Given the description of an element on the screen output the (x, y) to click on. 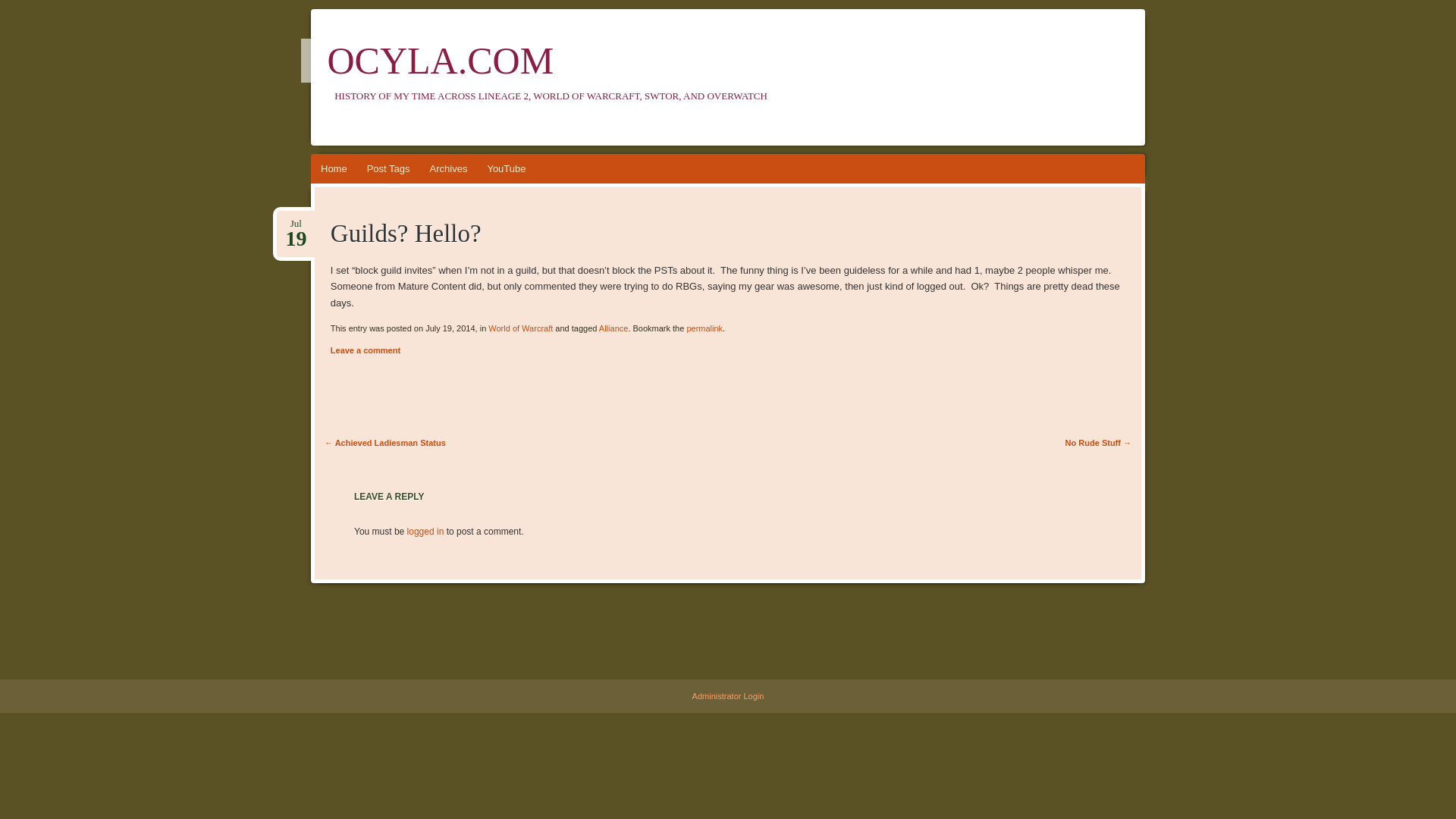
July 19, 2014 (295, 223)
permalink (703, 327)
Post Tags (388, 168)
Alliance (613, 327)
Administrator Login (295, 223)
Permalink to Guilds? Hello? (728, 696)
ocyla.com (703, 327)
World of Warcraft (439, 60)
logged in (520, 327)
